Given the description of an element on the screen output the (x, y) to click on. 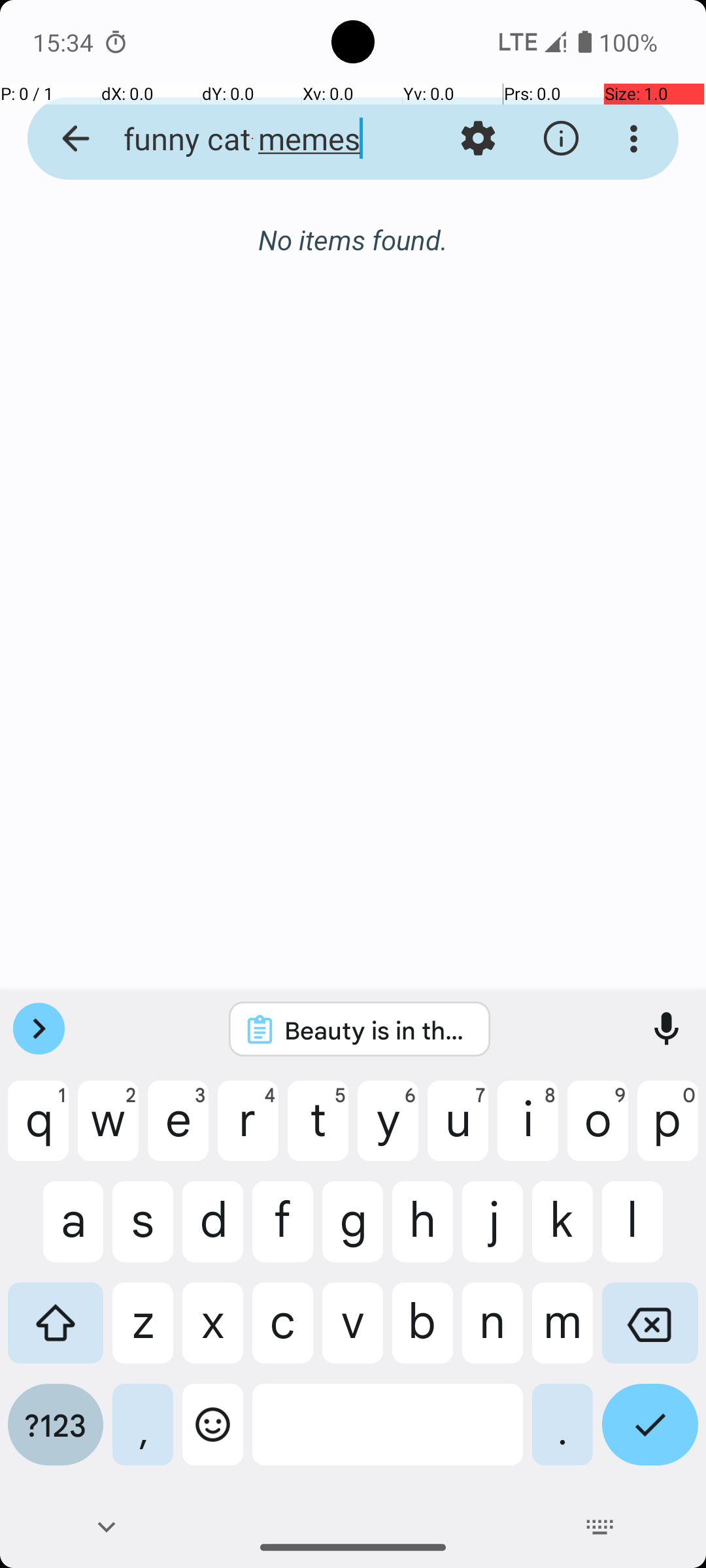
funny cat memes Element type: android.widget.EditText (252, 138)
